Given the description of an element on the screen output the (x, y) to click on. 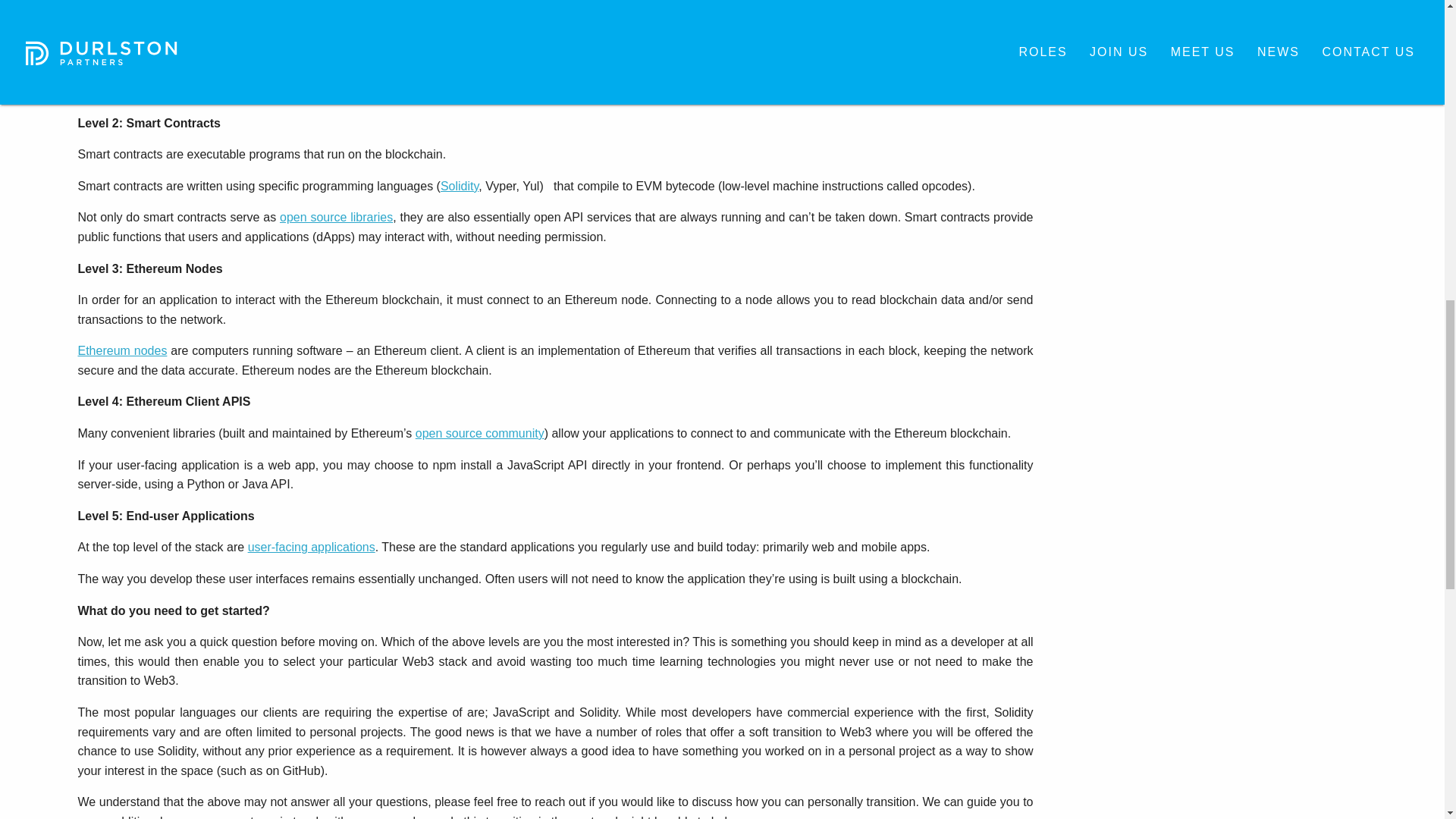
Ethereum nodes (122, 350)
open source community (479, 432)
Solidity (460, 185)
user-facing applications (311, 546)
open source libraries (336, 216)
